Given the description of an element on the screen output the (x, y) to click on. 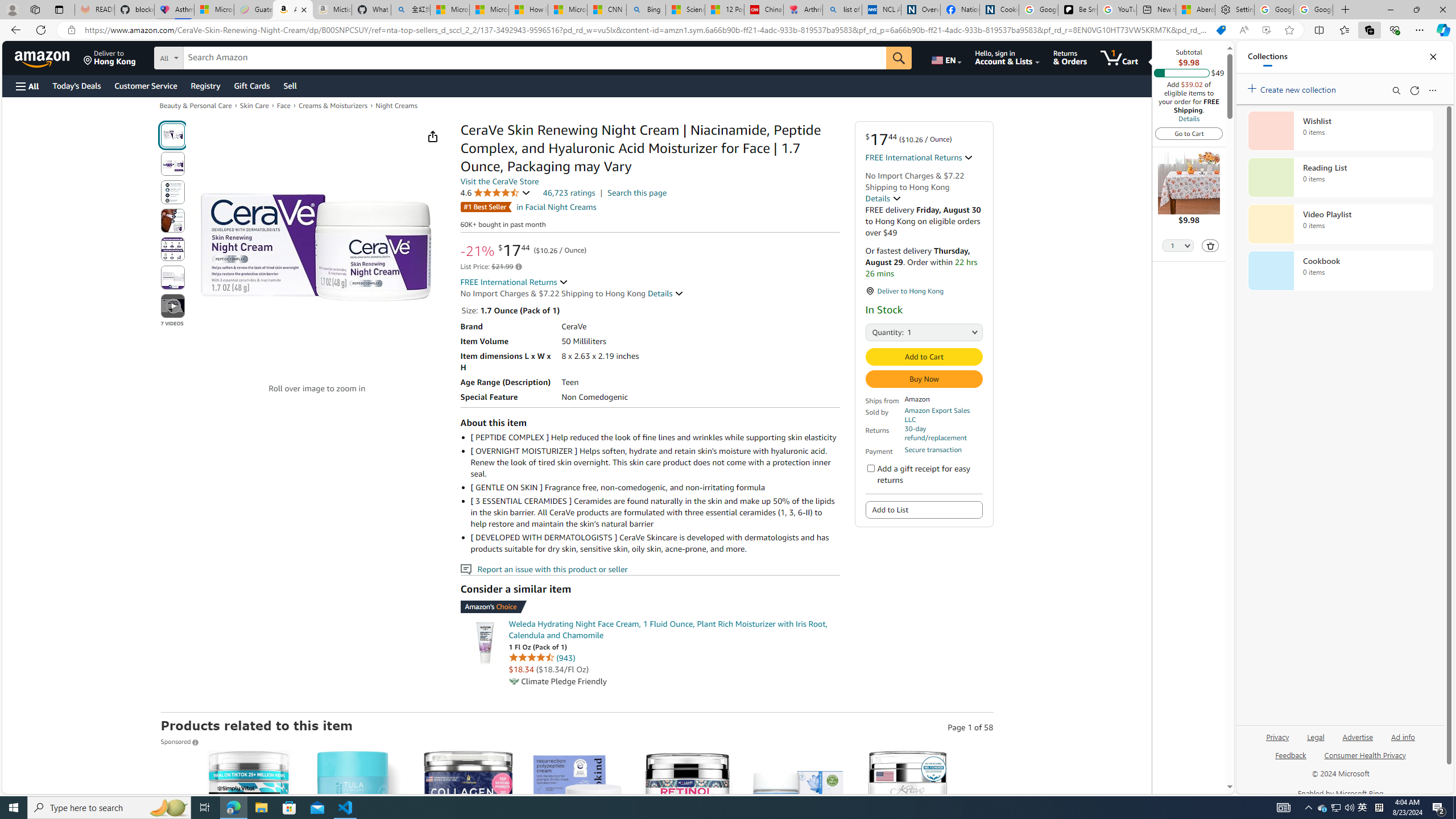
Asthma Inhalers: Names and Types (174, 9)
Cookies (999, 9)
Arthritis: Ask Health Professionals (802, 9)
Beauty & Personal Care (194, 105)
Returns & Orders (1070, 57)
Search this page (636, 192)
30-day refund/replacement (943, 433)
Visit the CeraVe Store (499, 181)
Skip to main content (48, 56)
Gift Cards (251, 85)
Deliver to Hong Kong (109, 57)
